Given the description of an element on the screen output the (x, y) to click on. 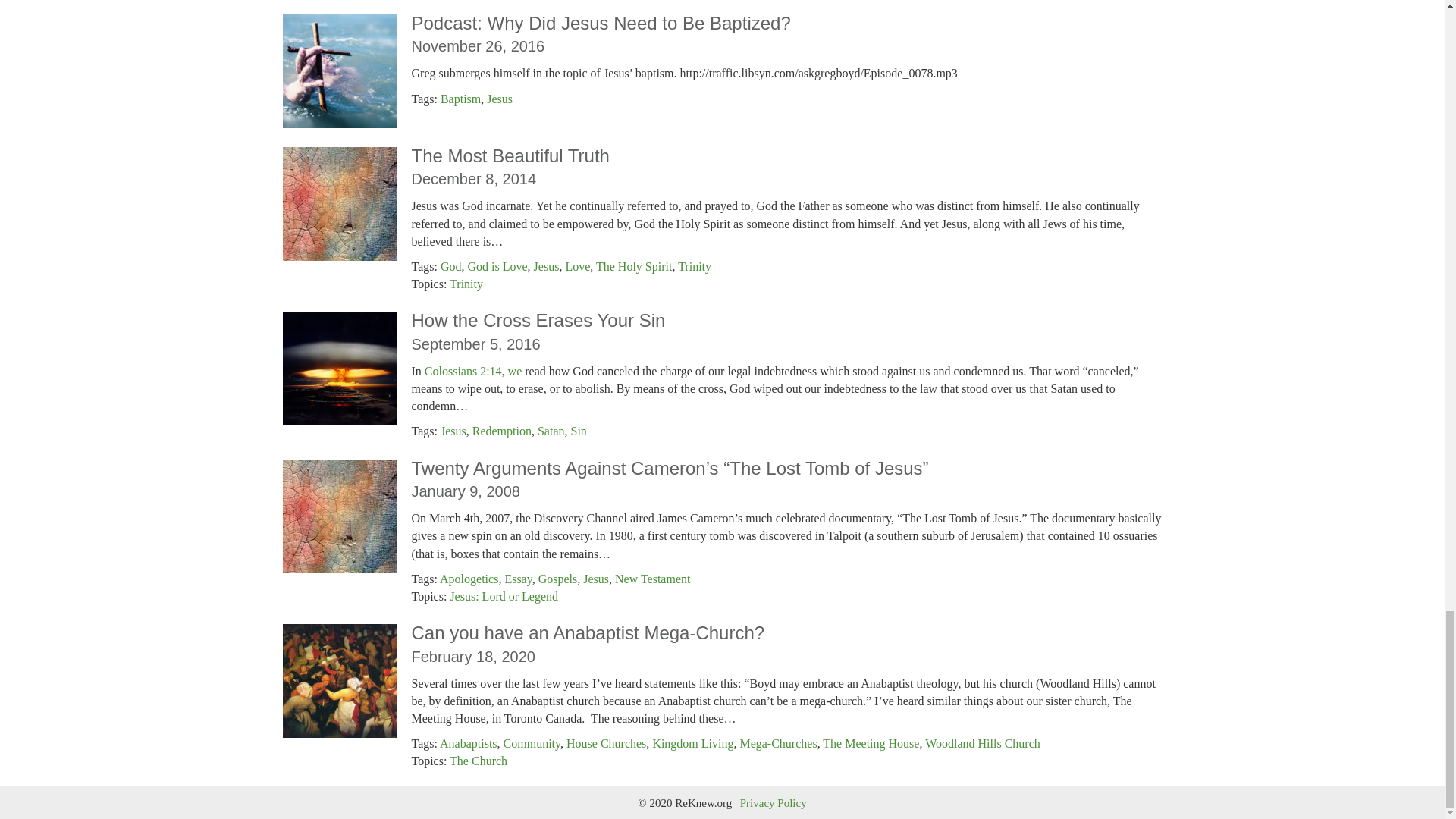
The Most Beautiful Truth (509, 155)
Jesus (499, 97)
Baptism (460, 97)
Podcast: Why Did Jesus Need to Be Baptized? (600, 23)
